Given the description of an element on the screen output the (x, y) to click on. 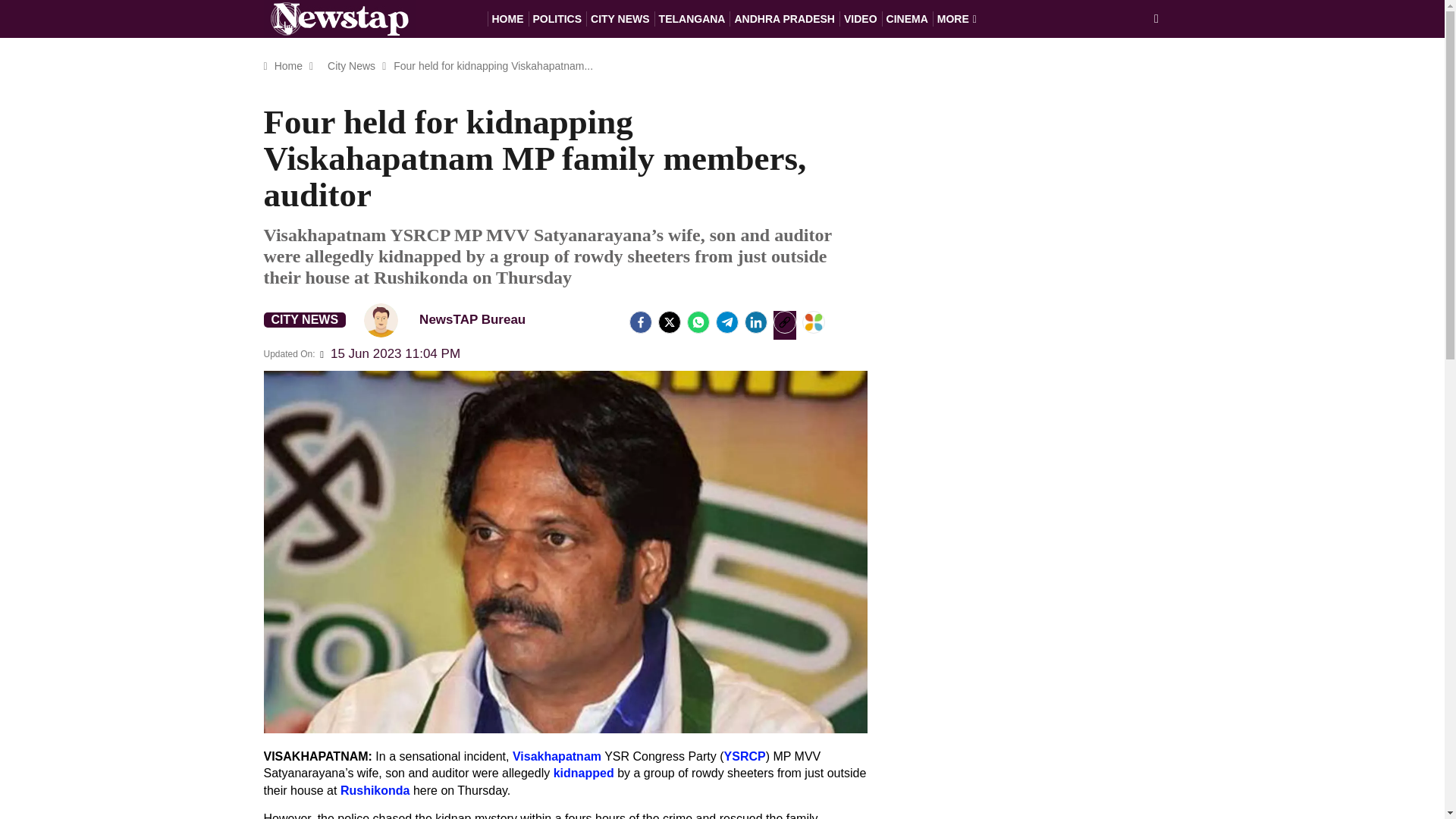
NewsTAP Bureau (451, 318)
TELANGANA (691, 18)
NewsTAP Bureau (380, 320)
HOME (506, 18)
ANDHRA PRADESH (784, 18)
CITY NEWS (304, 319)
POLITICS (556, 18)
CINEMA (907, 18)
Home (287, 65)
LinkedIn (755, 322)
City News (350, 65)
VIDEO (861, 18)
MORE (957, 18)
CITY NEWS (619, 18)
